Given the description of an element on the screen output the (x, y) to click on. 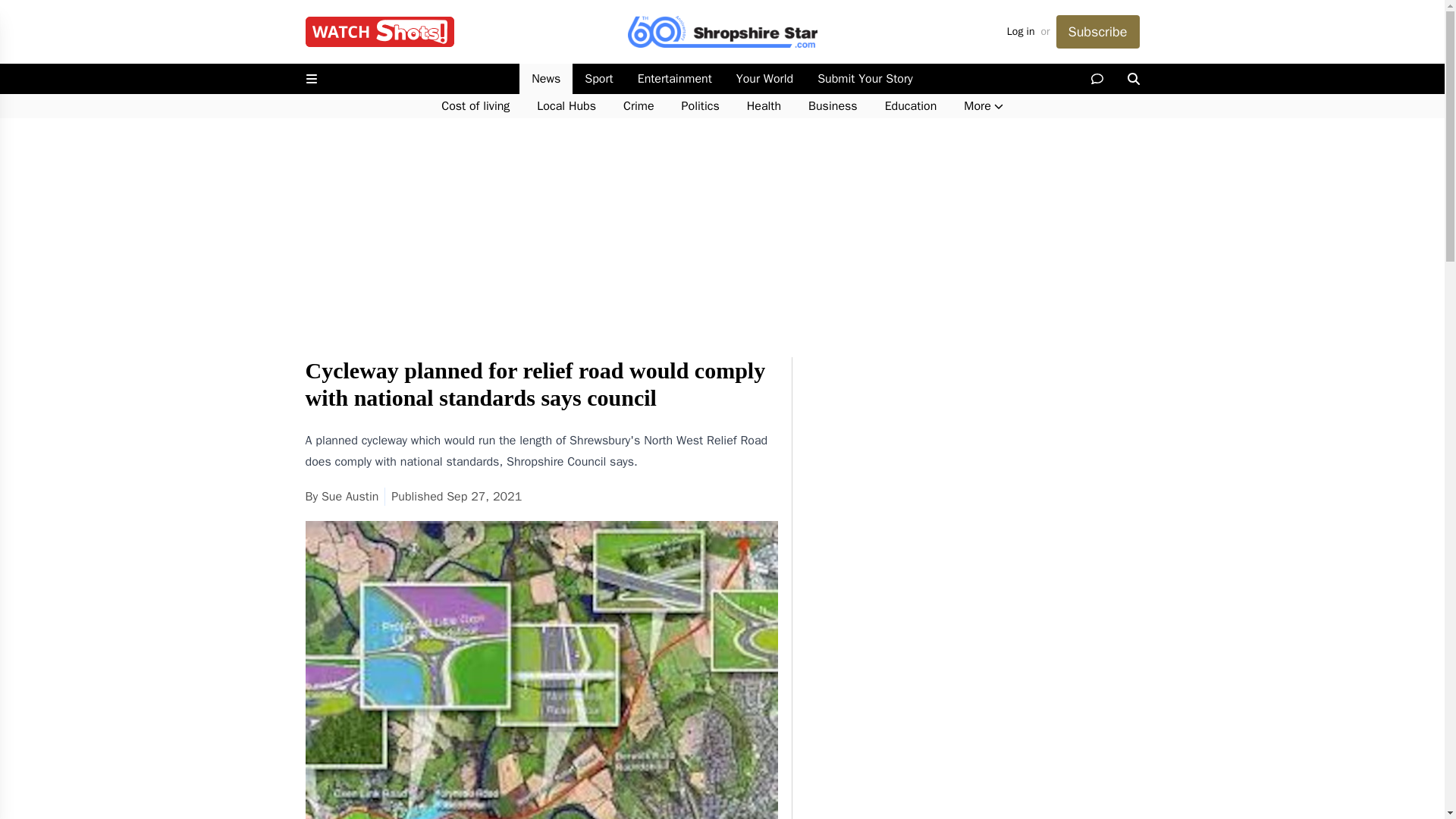
Business (832, 105)
Submit Your Story (864, 78)
Health (764, 105)
Crime (638, 105)
Subscribe (1096, 31)
Education (910, 105)
Cost of living (475, 105)
3rd party ad content (972, 452)
More (983, 105)
